Given the description of an element on the screen output the (x, y) to click on. 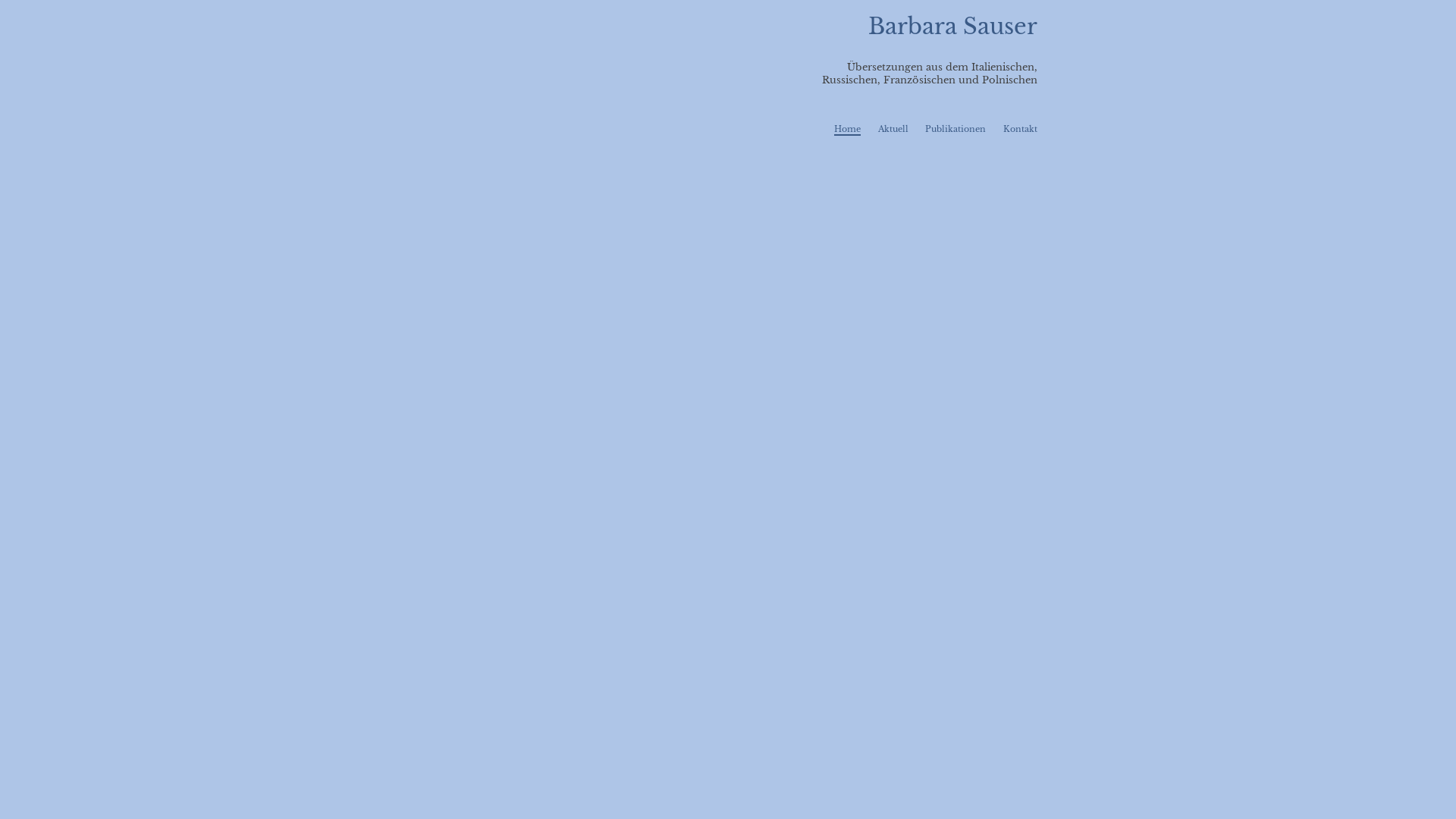
Home Element type: text (847, 129)
Kontakt Element type: text (1020, 128)
Barbara Sauser Element type: text (952, 26)
Publikationen Element type: text (955, 128)
Aktuell Element type: text (893, 128)
